Given the description of an element on the screen output the (x, y) to click on. 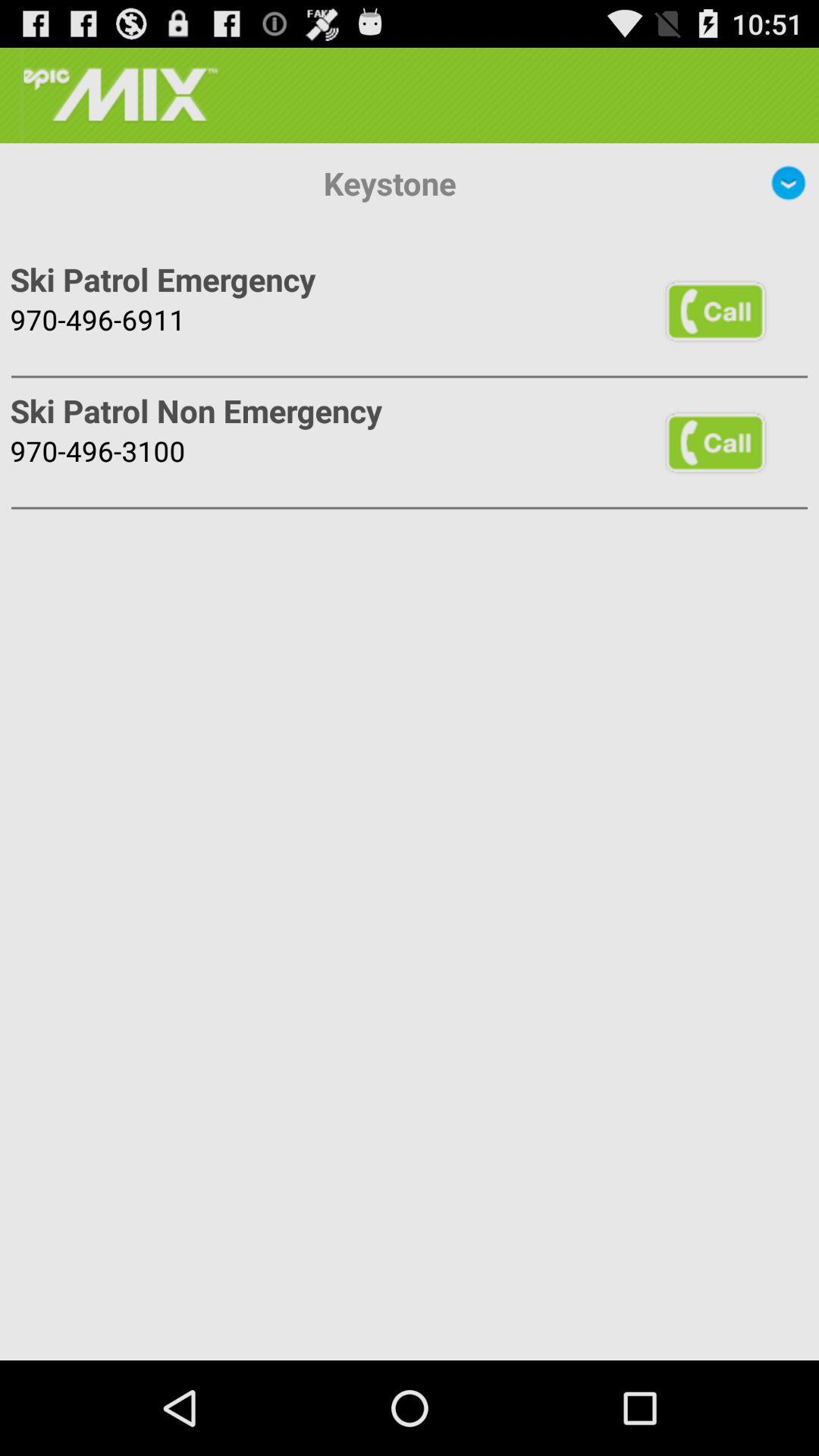
click app to the right of keystone app (788, 183)
